Given the description of an element on the screen output the (x, y) to click on. 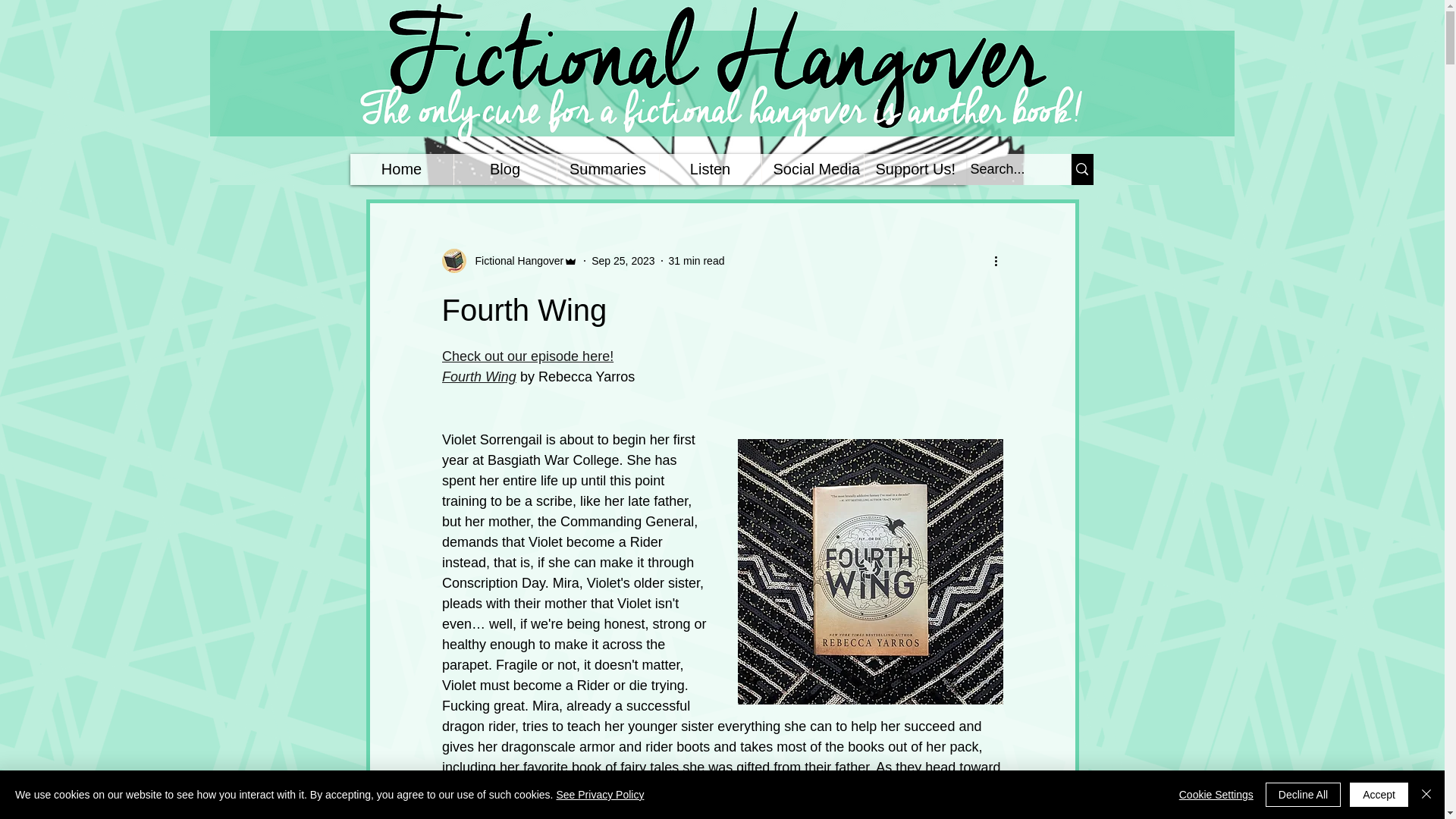
Fourth Wing (478, 376)
Summaries (607, 169)
Fictional Hangover (509, 260)
Blog (504, 169)
Fictional Hangover (514, 261)
31 min read (696, 260)
Check out our episode here! (526, 355)
Sep 25, 2023 (622, 260)
Home (401, 169)
